Given the description of an element on the screen output the (x, y) to click on. 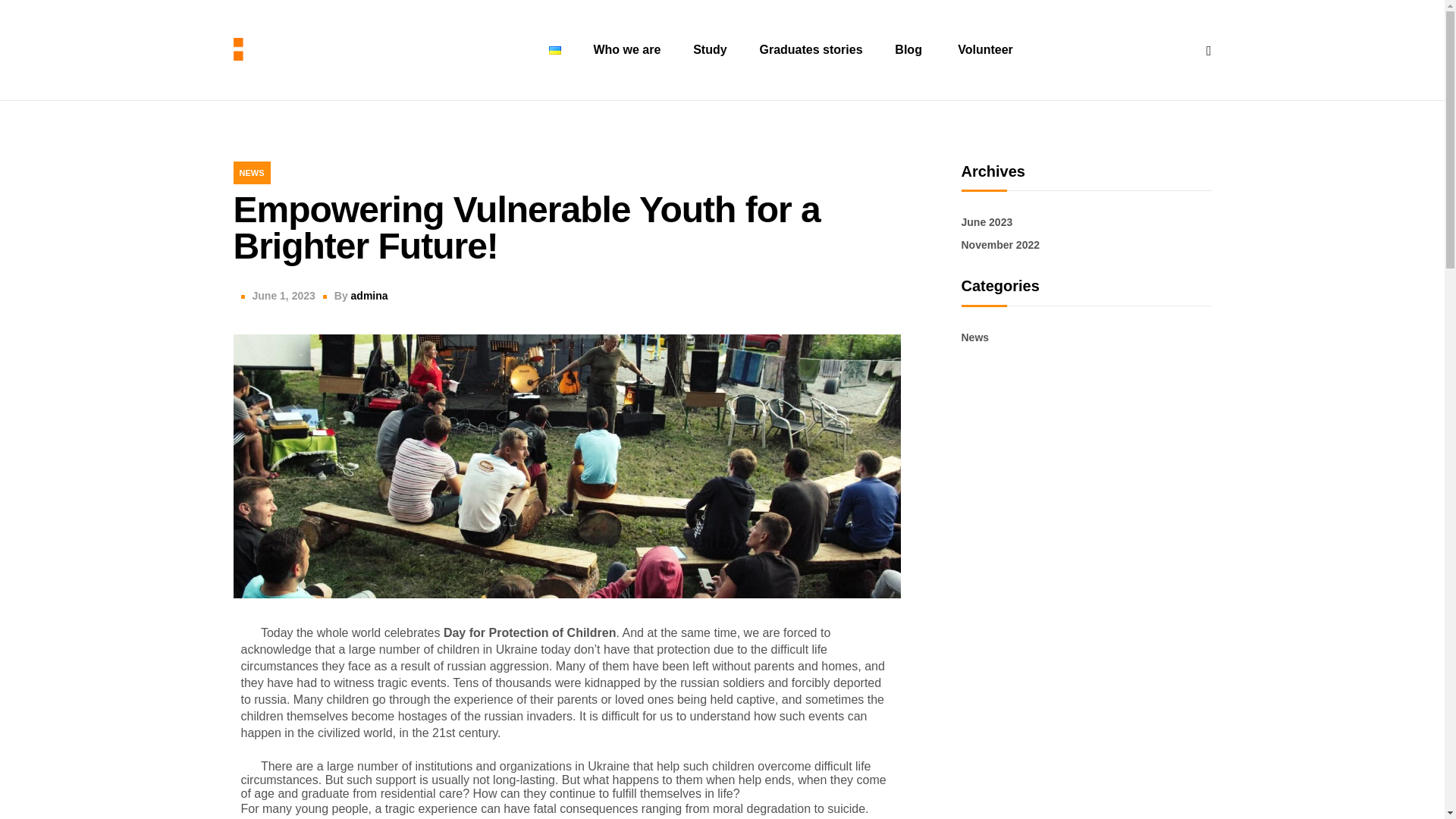
Who we are (626, 49)
Blog (908, 49)
June 1, 2023 (282, 295)
 Volunteer (983, 49)
June 2023 (986, 222)
Study (709, 49)
News (975, 337)
NEWS (251, 172)
Graduates stories (810, 49)
November 2022 (1000, 244)
